Given the description of an element on the screen output the (x, y) to click on. 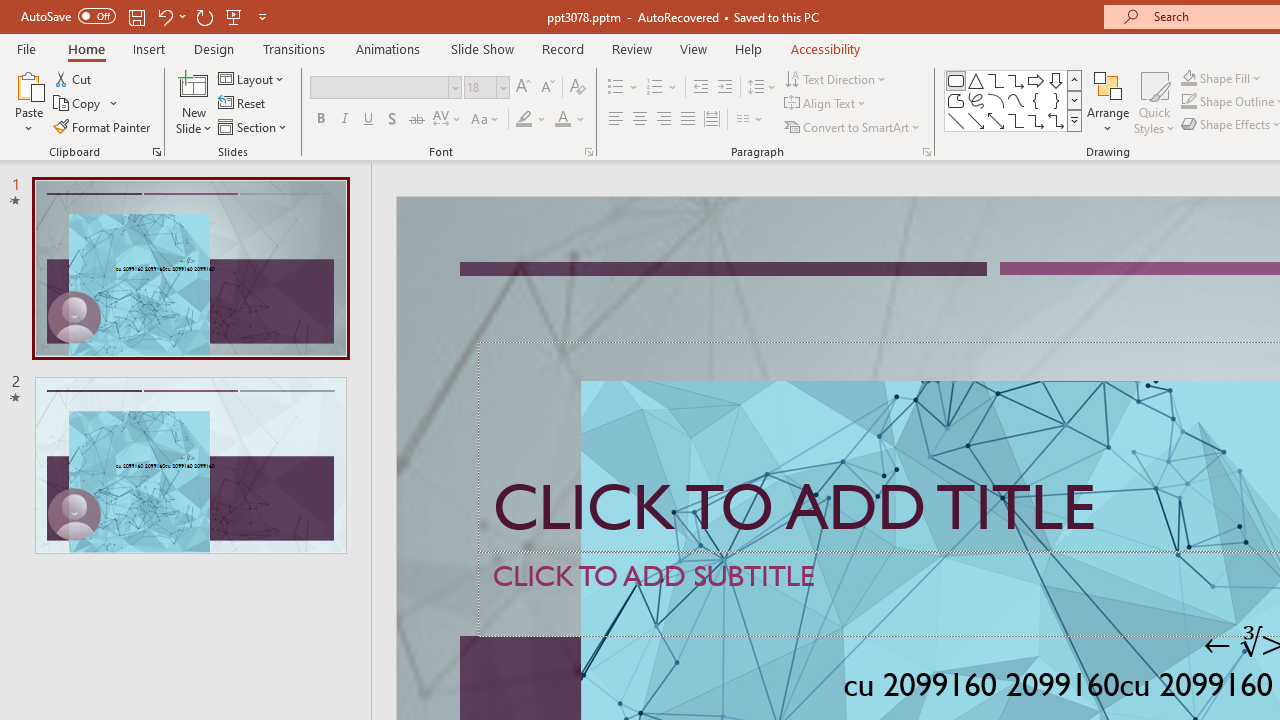
Connector: Elbow Double-Arrow (1055, 120)
